Given the description of an element on the screen output the (x, y) to click on. 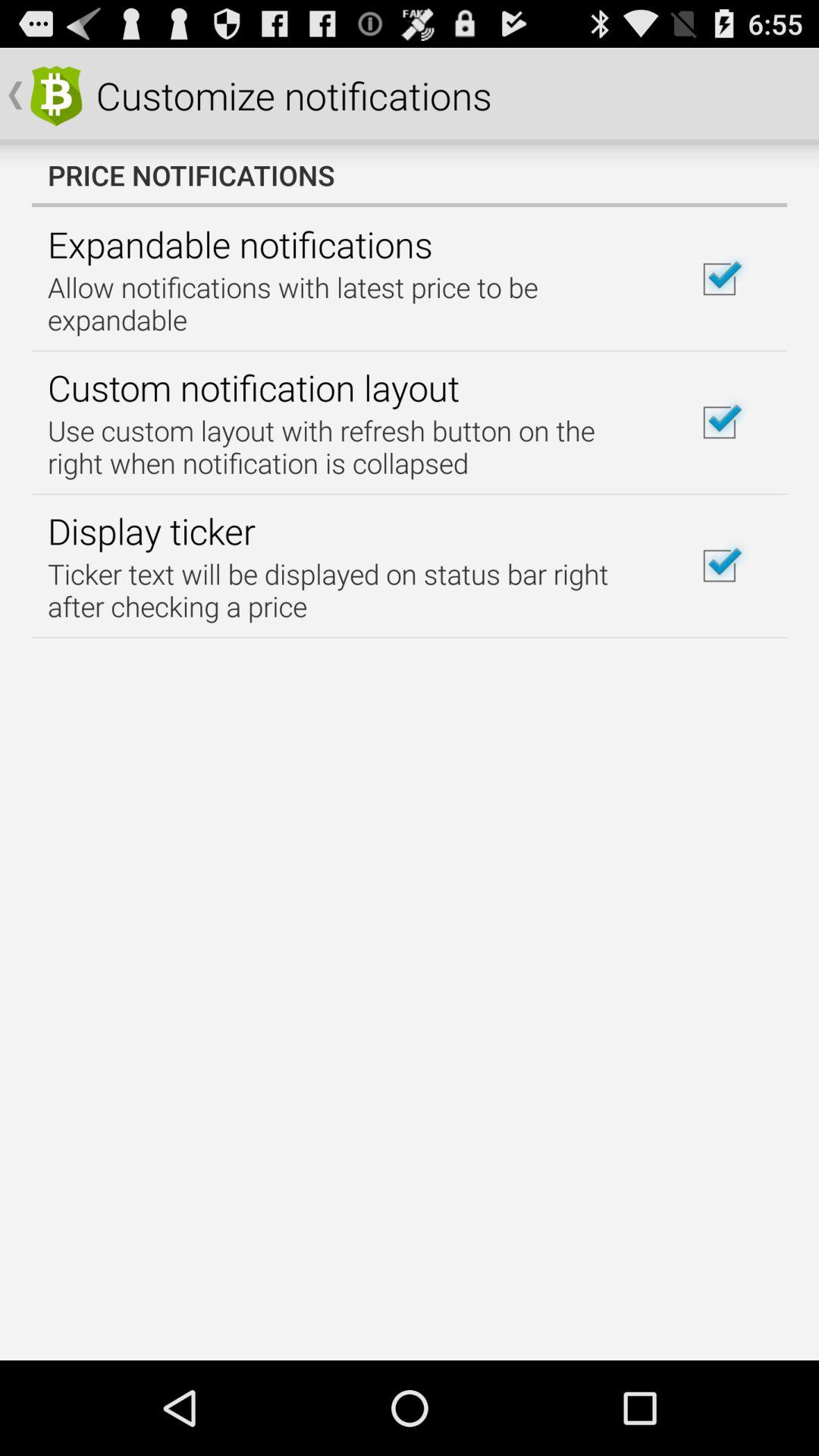
open icon below the use custom layout (151, 530)
